Given the description of an element on the screen output the (x, y) to click on. 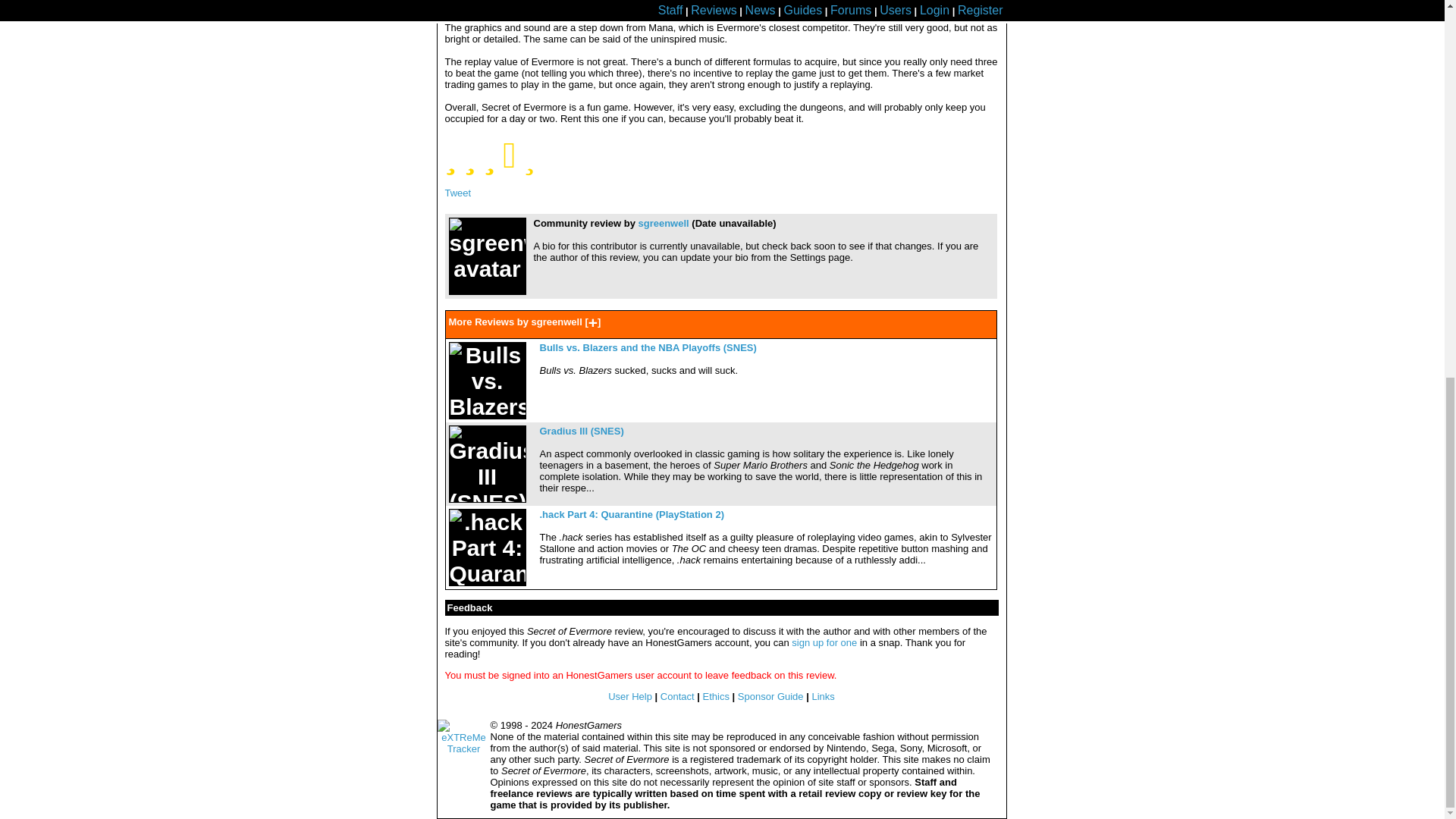
Tweet (457, 193)
sign up for one (824, 642)
User Help (630, 696)
sgreenwell (662, 223)
Contact (677, 696)
